Given the description of an element on the screen output the (x, y) to click on. 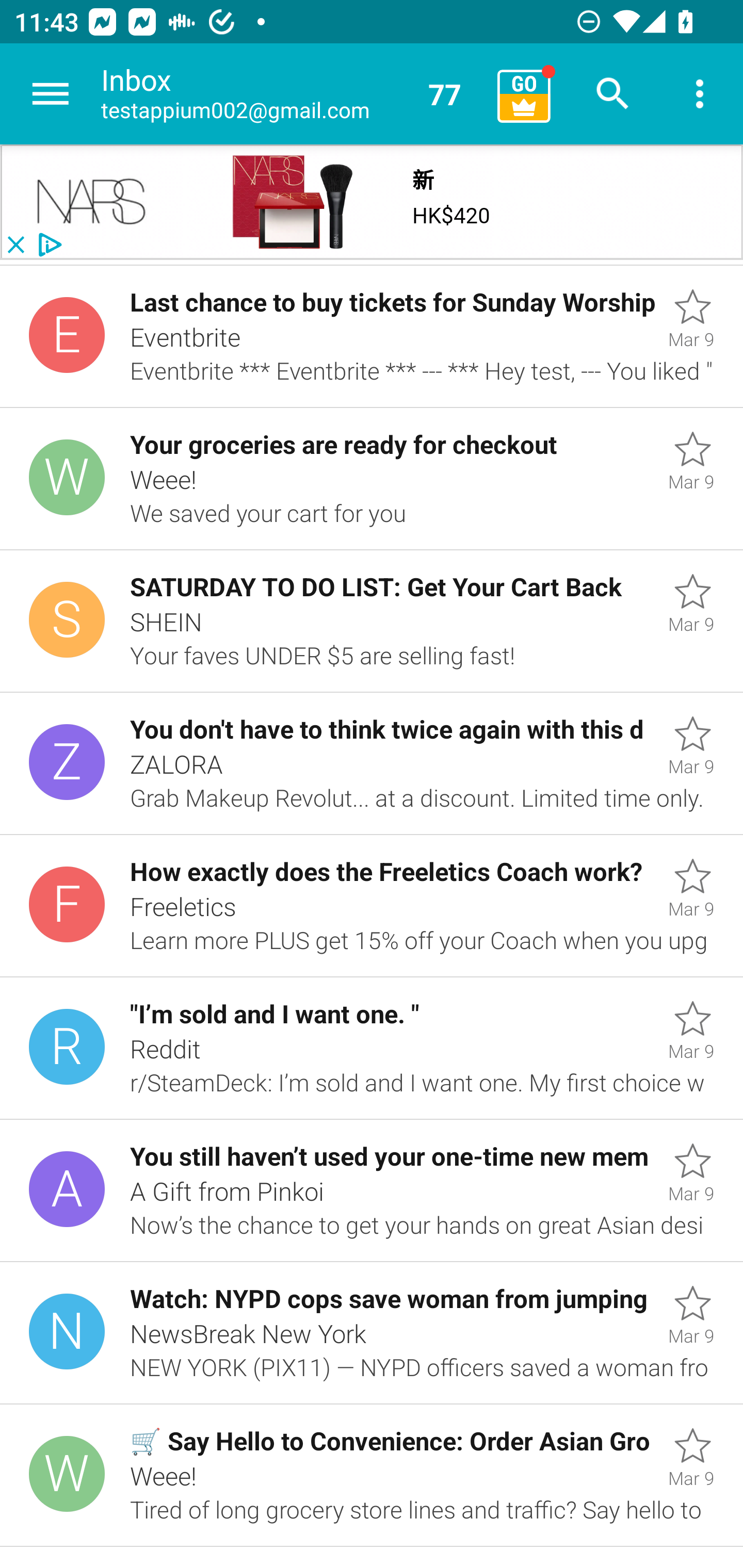
Navigate up (50, 93)
Inbox testappium002@gmail.com 77 (291, 93)
Search (612, 93)
More options (699, 93)
   (91, 202)
close_button (14, 245)
privacy_small (47, 245)
